Given the description of an element on the screen output the (x, y) to click on. 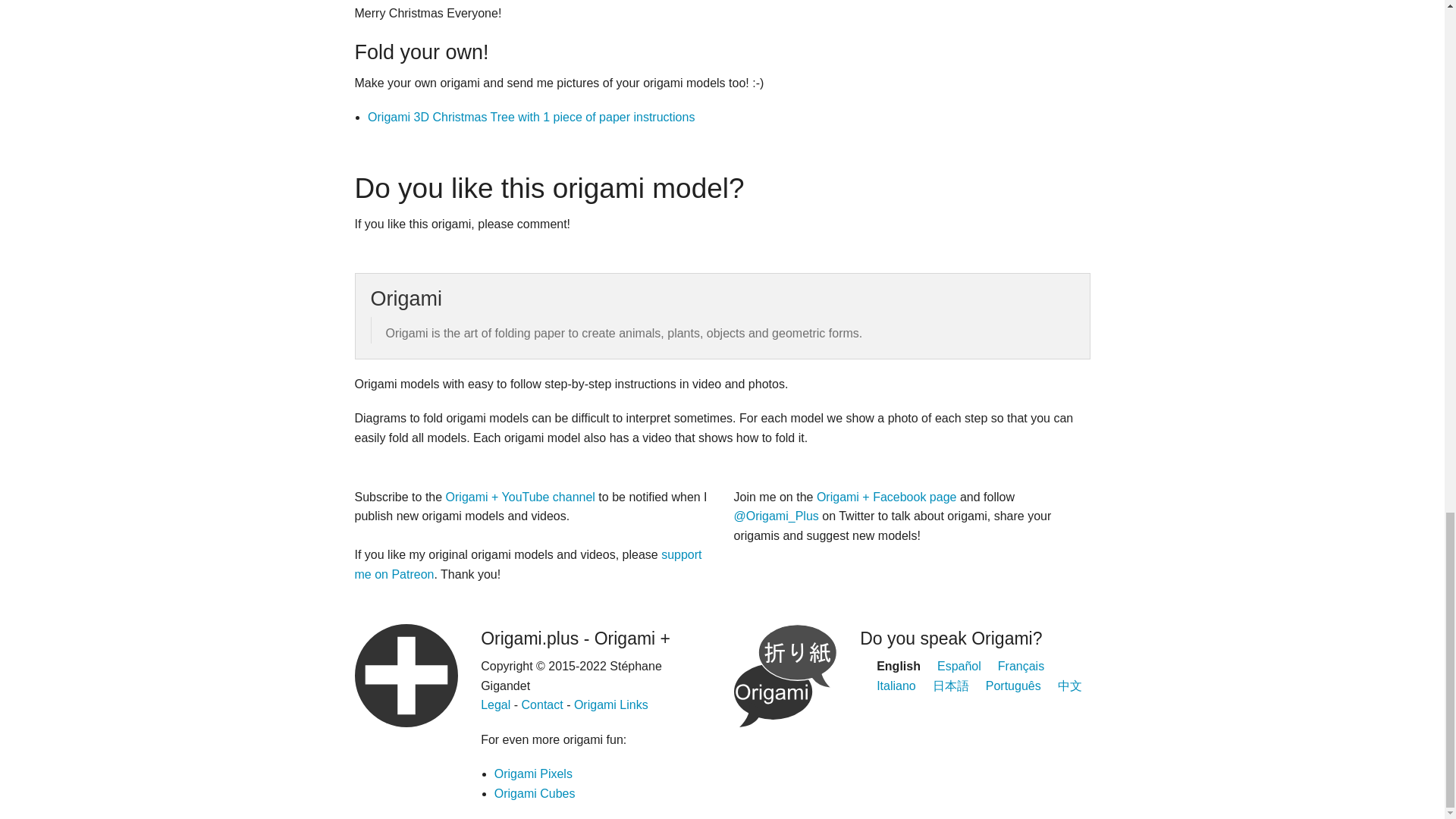
Italiano (895, 686)
Origami 3D Christmas Tree with 1 piece of paper instructions (531, 116)
Contact (542, 704)
Origami Cubes (535, 793)
support me on Patreon (528, 563)
Origami Pixels (533, 773)
Legal (495, 704)
Origami 3D Christmas Tree with 1 piece of paper pictures (531, 116)
Italiano (895, 686)
Origami Links (610, 704)
